Given the description of an element on the screen output the (x, y) to click on. 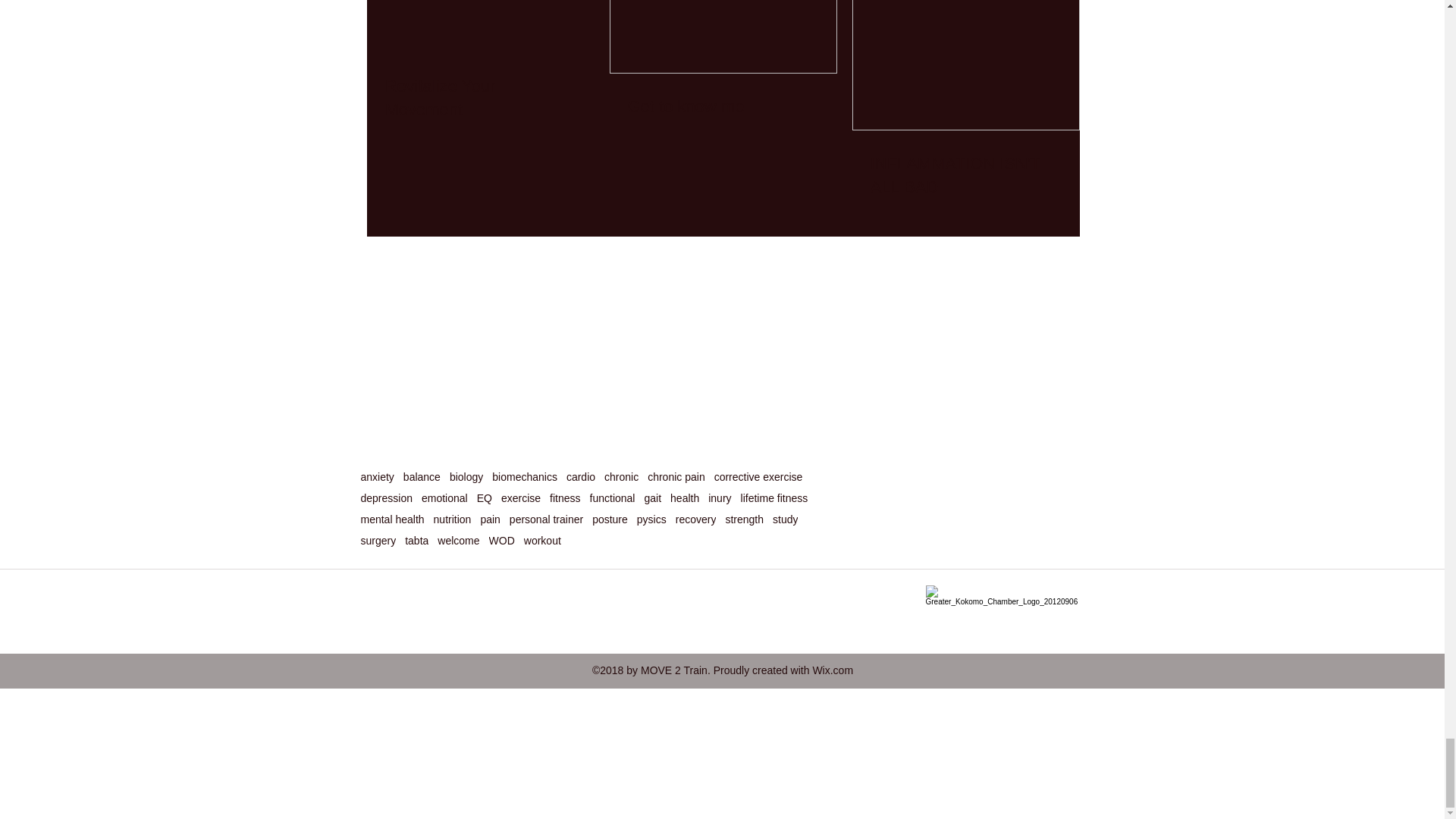
cardio (580, 476)
emotional (444, 498)
gait (652, 498)
inury (718, 498)
biology (466, 476)
EQ (484, 498)
biomechanics (524, 476)
health (683, 498)
exercise (520, 498)
INFLAMMATION ISN'T ALL BAD (965, 175)
Revitalize Your Movement (480, 98)
anxiety (377, 476)
chronic pain (675, 476)
corrective exercise (758, 476)
balance (422, 476)
